Given the description of an element on the screen output the (x, y) to click on. 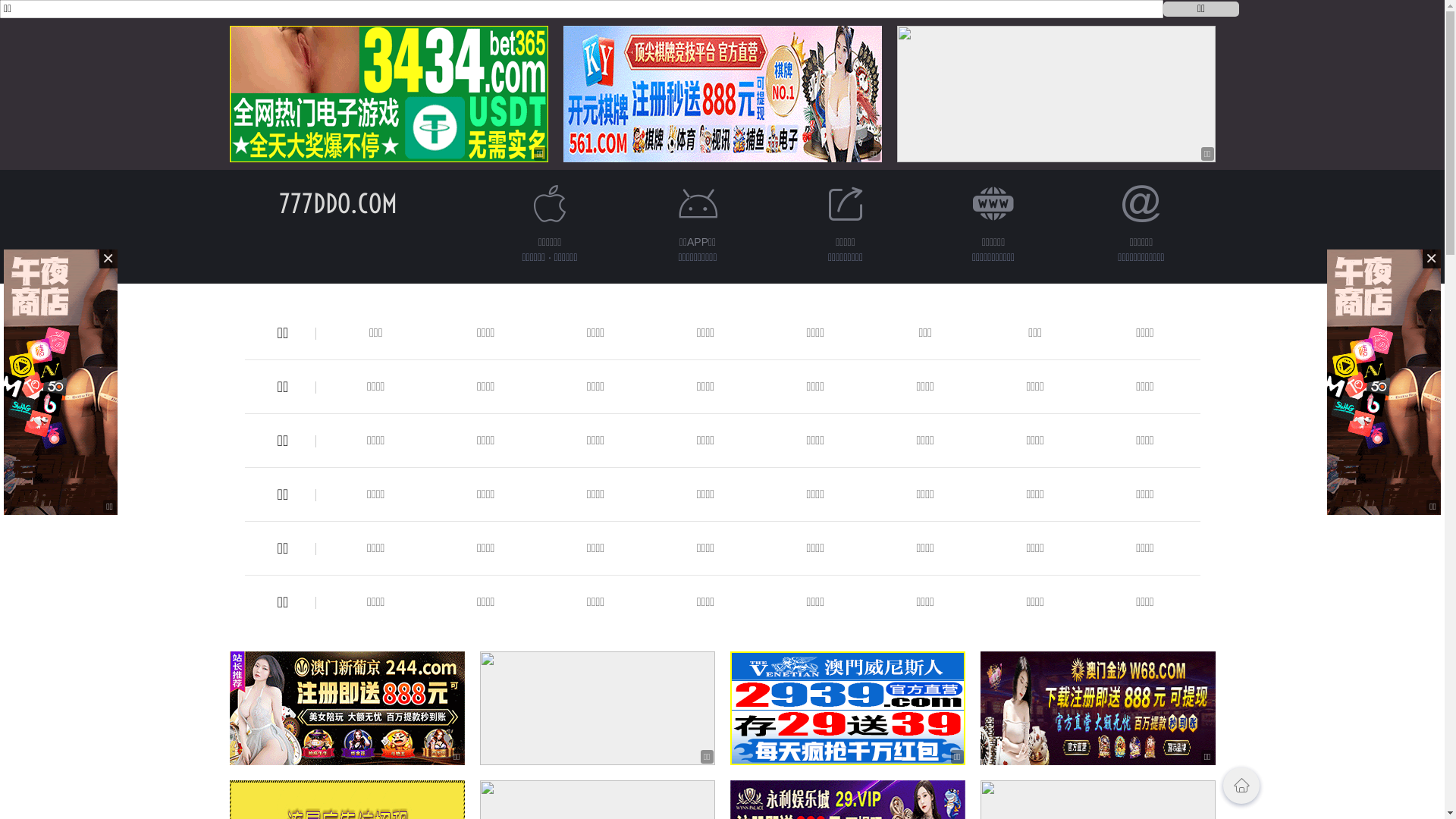
777DDO.COM Element type: text (338, 203)
